Given the description of an element on the screen output the (x, y) to click on. 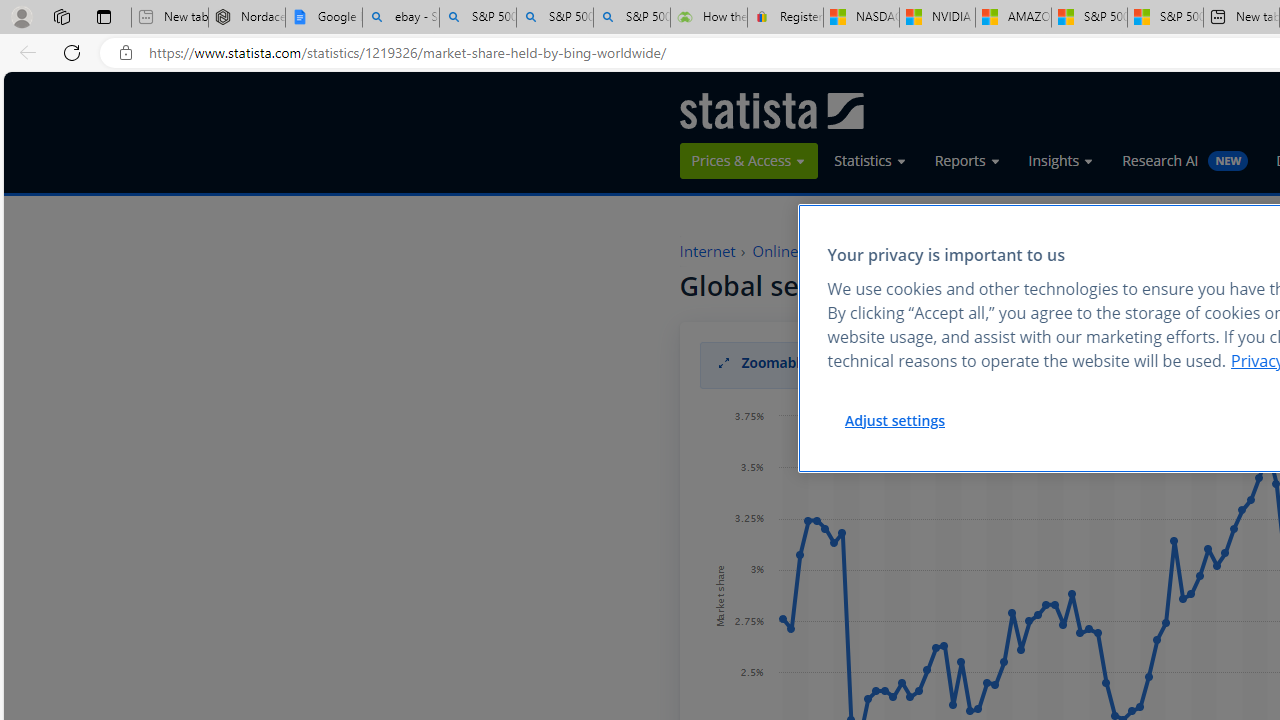
Adjust settings (894, 420)
Statista Logo (771, 110)
How the S&P 500 Performed During Major Market Crashes (708, 17)
Reports (967, 160)
Insights (1061, 161)
Register: Create a personal eBay account (785, 17)
Statista Homepage (771, 110)
Research AI (1185, 160)
Internet (715, 251)
S&P 500 index financial crisis decline - Search (631, 17)
